Given the description of an element on the screen output the (x, y) to click on. 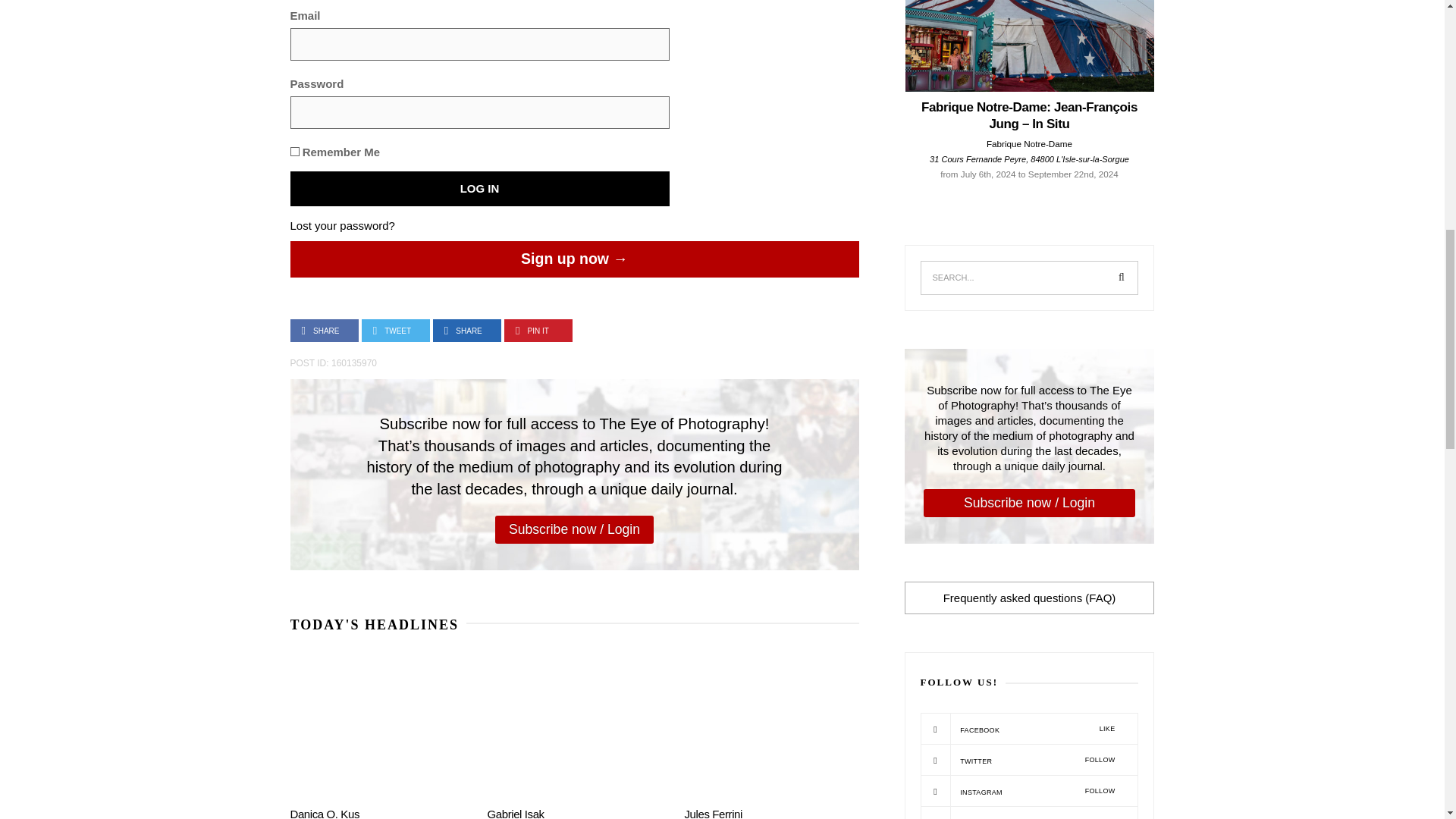
forever (293, 151)
Log In (478, 188)
